Given the description of an element on the screen output the (x, y) to click on. 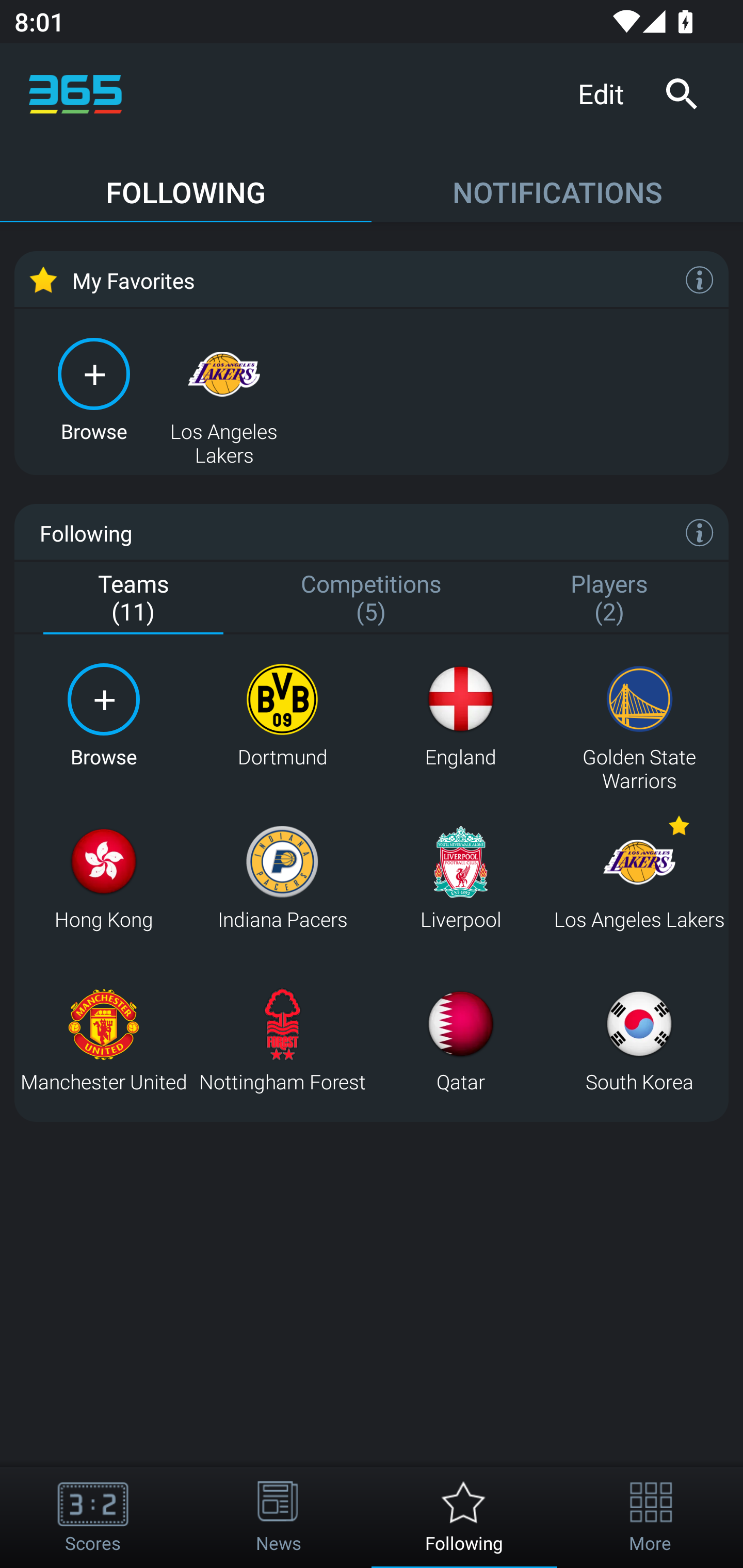
Search (681, 93)
Edit (608, 93)
FOLLOWING (185, 183)
NOTIFICATIONS (557, 183)
Browse (93, 387)
Los Angeles Lakers (224, 387)
Competitions
(5) (371, 598)
Players
(2) (609, 598)
Browse (103, 715)
Dortmund (282, 715)
England (460, 715)
Golden State Warriors (638, 715)
Hong Kong (103, 877)
Indiana Pacers (282, 877)
Liverpool (460, 877)
Los Angeles Lakers (638, 877)
Manchester United (103, 1040)
Nottingham Forest (282, 1040)
Qatar (460, 1040)
South Korea (638, 1040)
Scores (92, 1517)
News (278, 1517)
More (650, 1517)
